Given the description of an element on the screen output the (x, y) to click on. 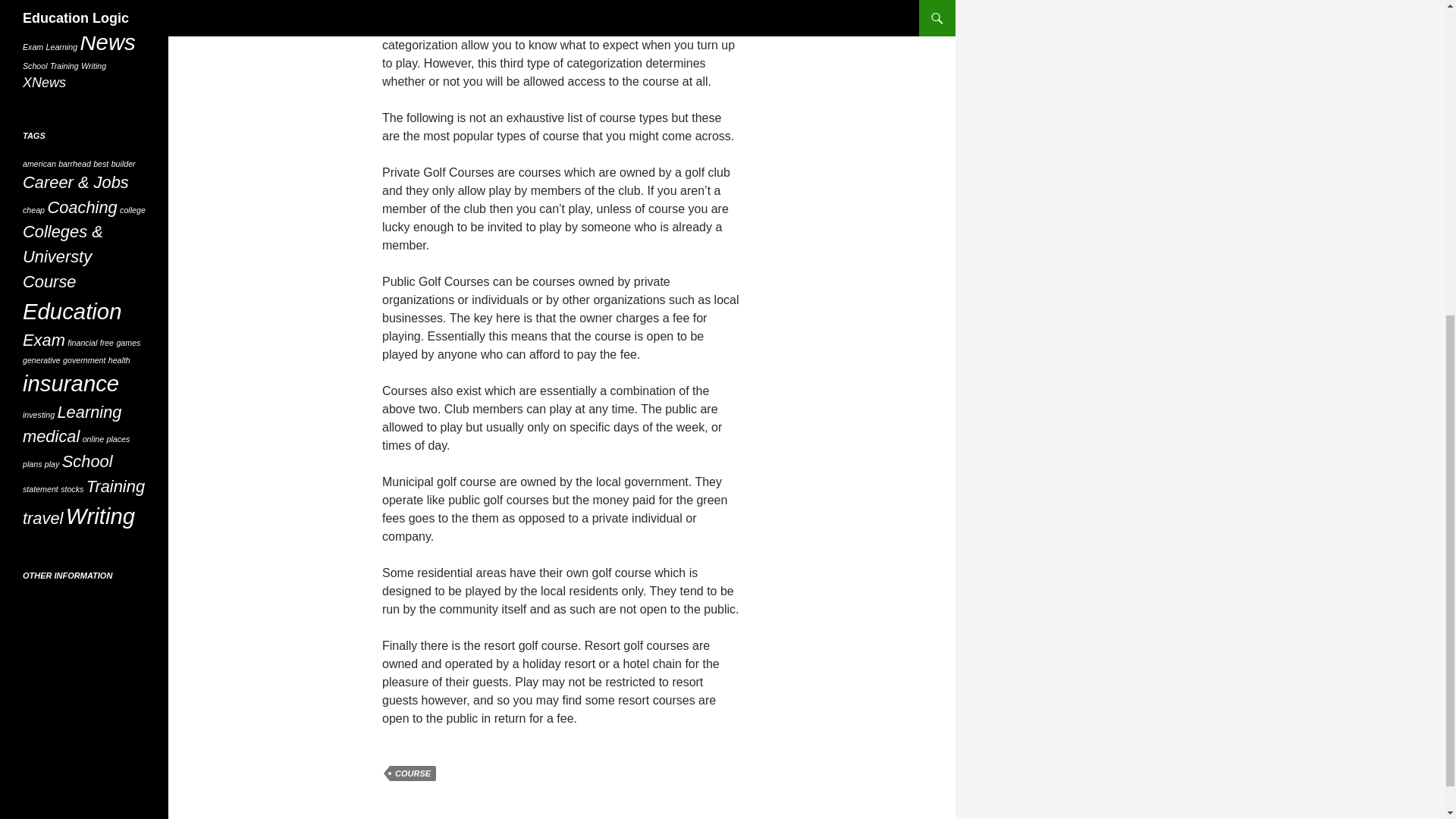
Writing (93, 65)
best (100, 163)
Learning (61, 46)
School (35, 65)
Exam (33, 46)
News (107, 41)
XNews (44, 82)
Coaching (93, 4)
Training (63, 65)
COURSE (412, 773)
Education (117, 18)
american (39, 163)
barrhead (74, 163)
